Given the description of an element on the screen output the (x, y) to click on. 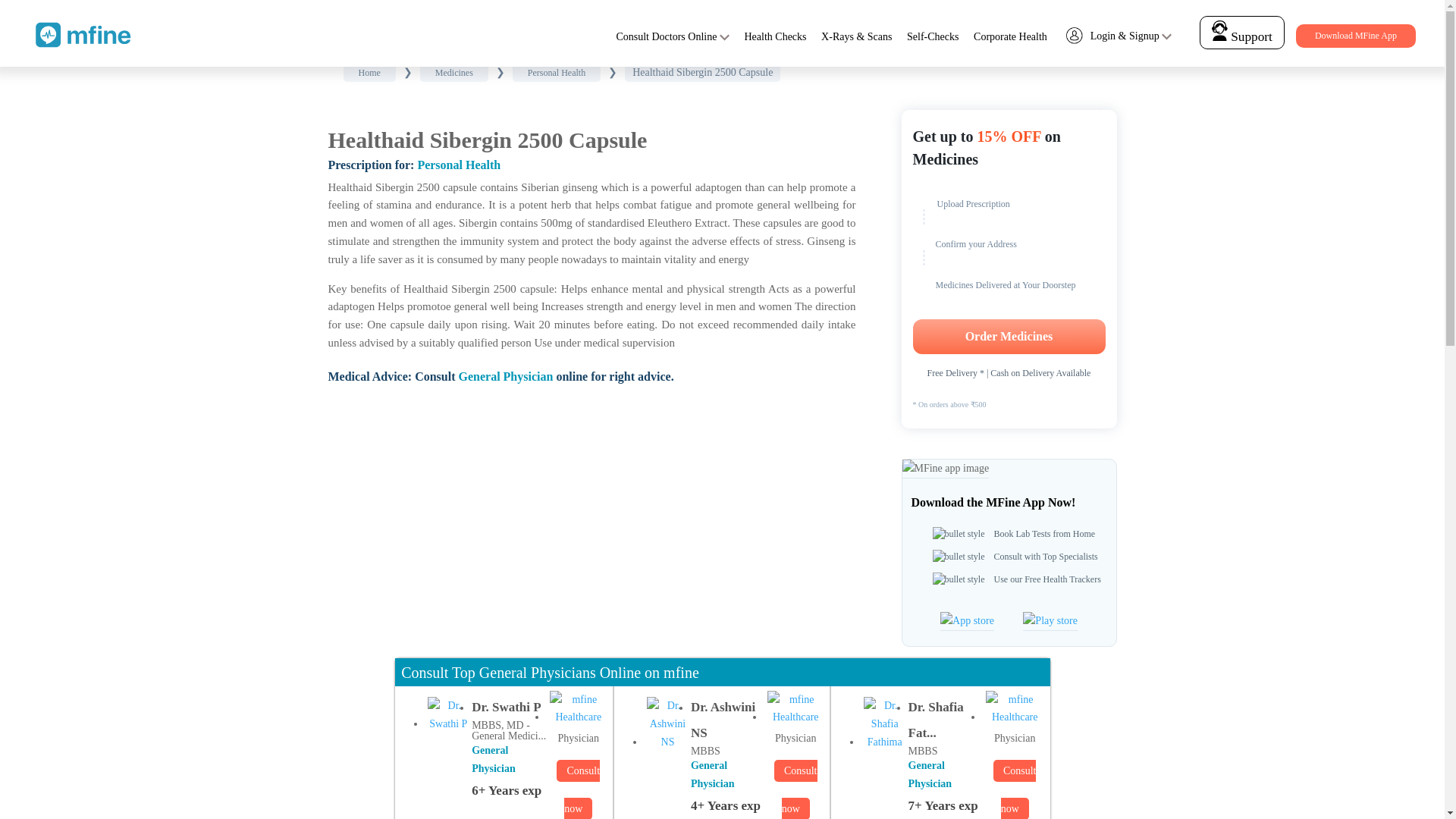
Corporate Health (1010, 36)
Download MFine App (1355, 35)
Self-Checks (932, 36)
Health Checks (775, 36)
Consult Doctors Online (665, 36)
Support (1241, 32)
Support (1241, 36)
